Given the description of an element on the screen output the (x, y) to click on. 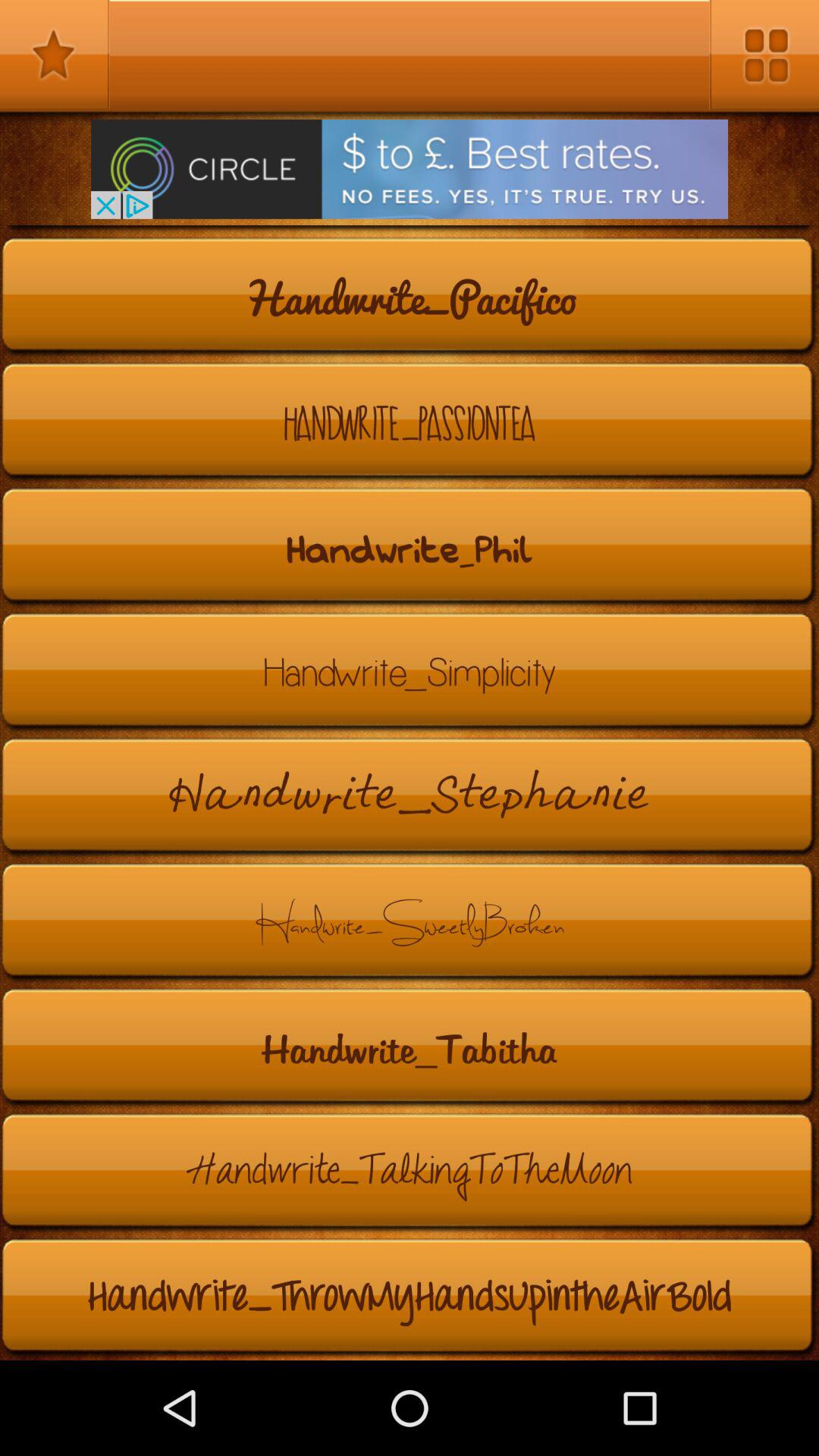
menu options (764, 54)
